Given the description of an element on the screen output the (x, y) to click on. 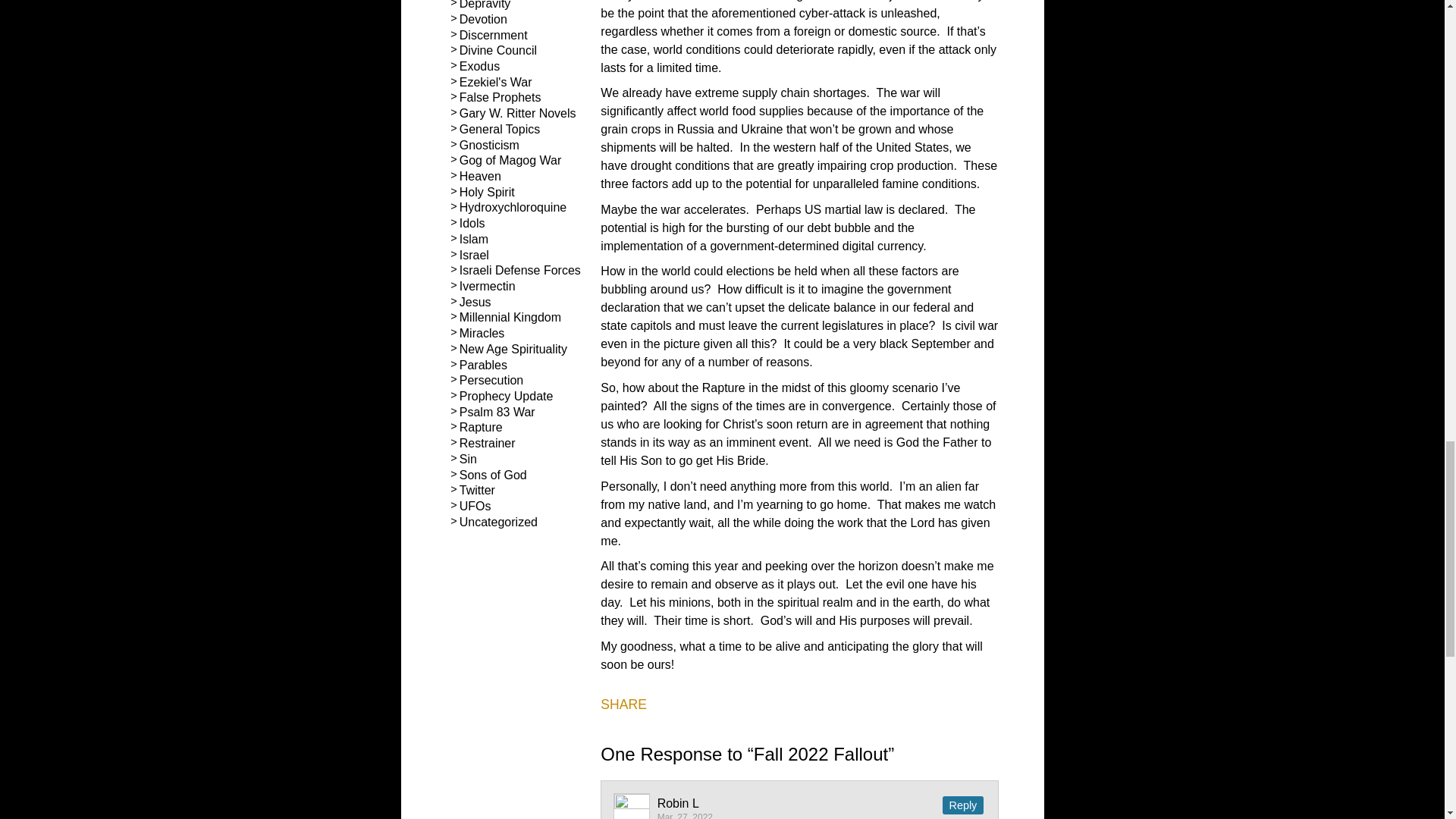
Reply (963, 805)
Mar. 27, 2022 (685, 815)
SHARE (622, 704)
